Given the description of an element on the screen output the (x, y) to click on. 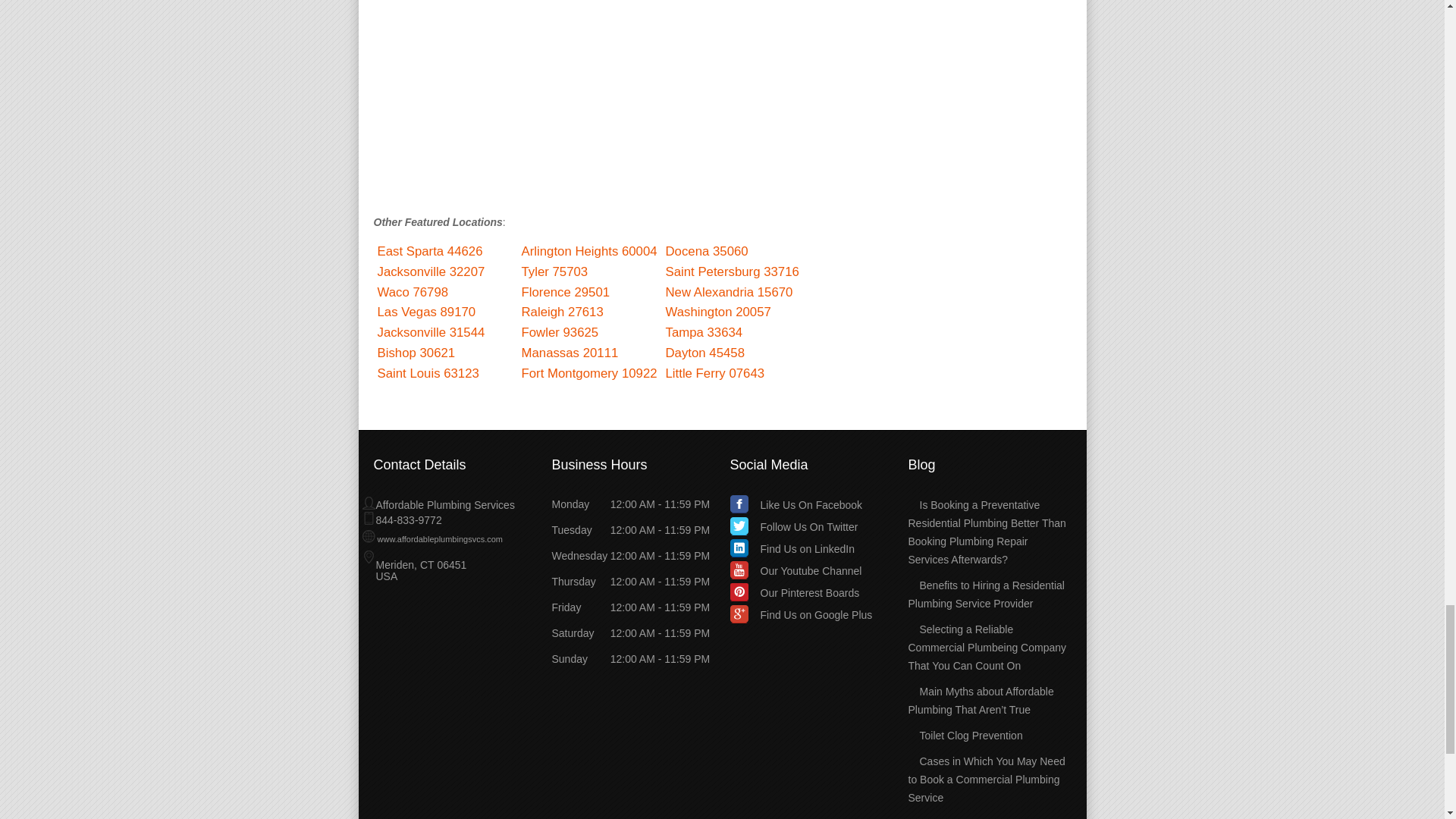
New Alexandria 15670 (729, 292)
Docena 35060 (706, 251)
Jacksonville 32207 (430, 271)
Washington 20057 (718, 311)
Arlington Heights 60004 (589, 251)
Tyler 75703 (554, 271)
Raleigh 27613 (562, 311)
East Sparta 44626 (430, 251)
Florence 29501 (565, 292)
Las Vegas 89170 (426, 311)
